Given the description of an element on the screen output the (x, y) to click on. 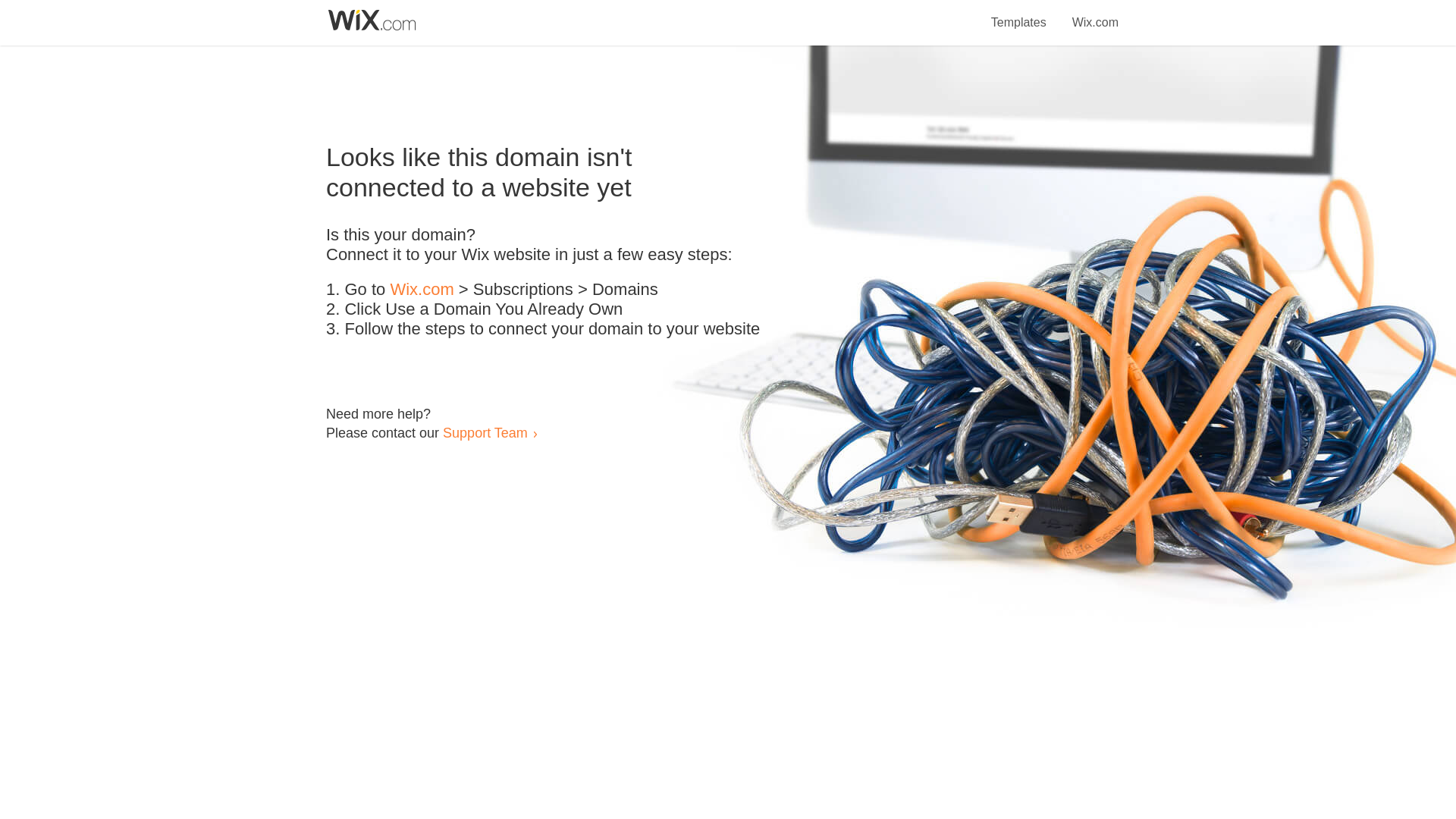
Templates (1018, 14)
Wix.com (1095, 14)
Support Team (484, 432)
Wix.com (421, 289)
